Given the description of an element on the screen output the (x, y) to click on. 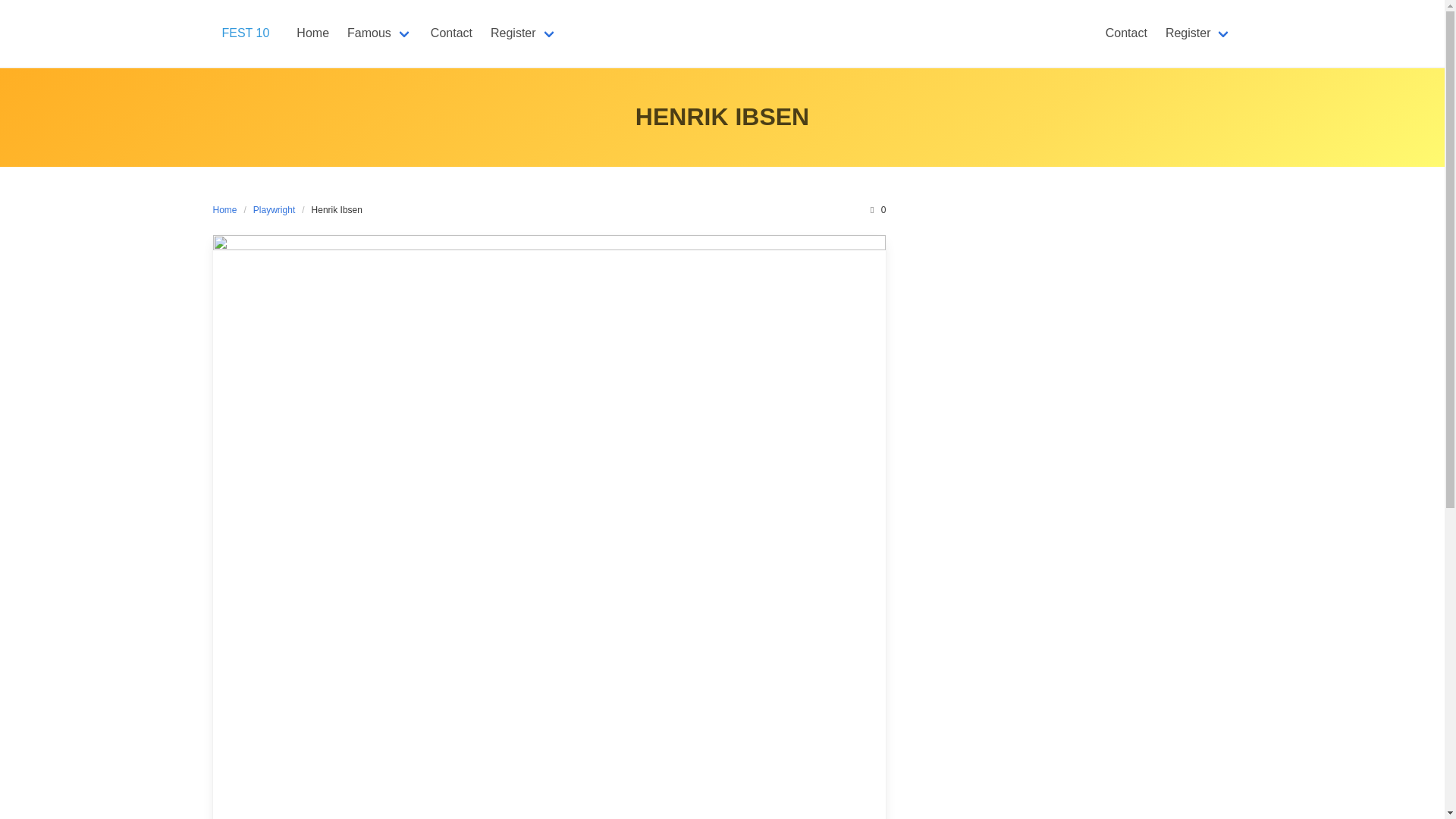
Register (523, 33)
Famous (379, 33)
0 (876, 210)
Contact (1126, 33)
Famous (379, 33)
Playwright (273, 210)
Home (311, 33)
Contact (451, 33)
Register (1198, 33)
Register (523, 33)
